Given the description of an element on the screen output the (x, y) to click on. 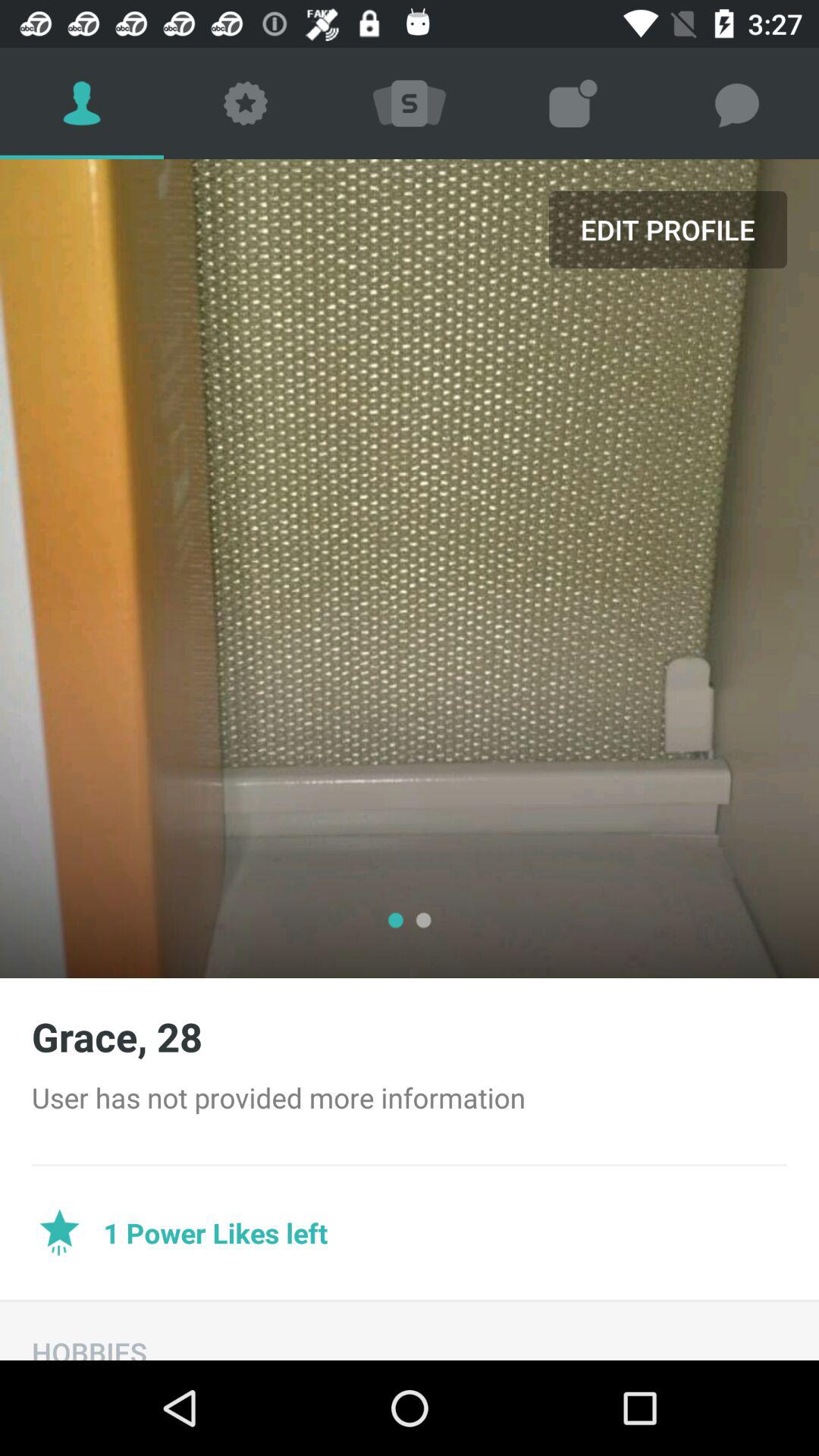
swipe until the user has not (409, 1097)
